Given the description of an element on the screen output the (x, y) to click on. 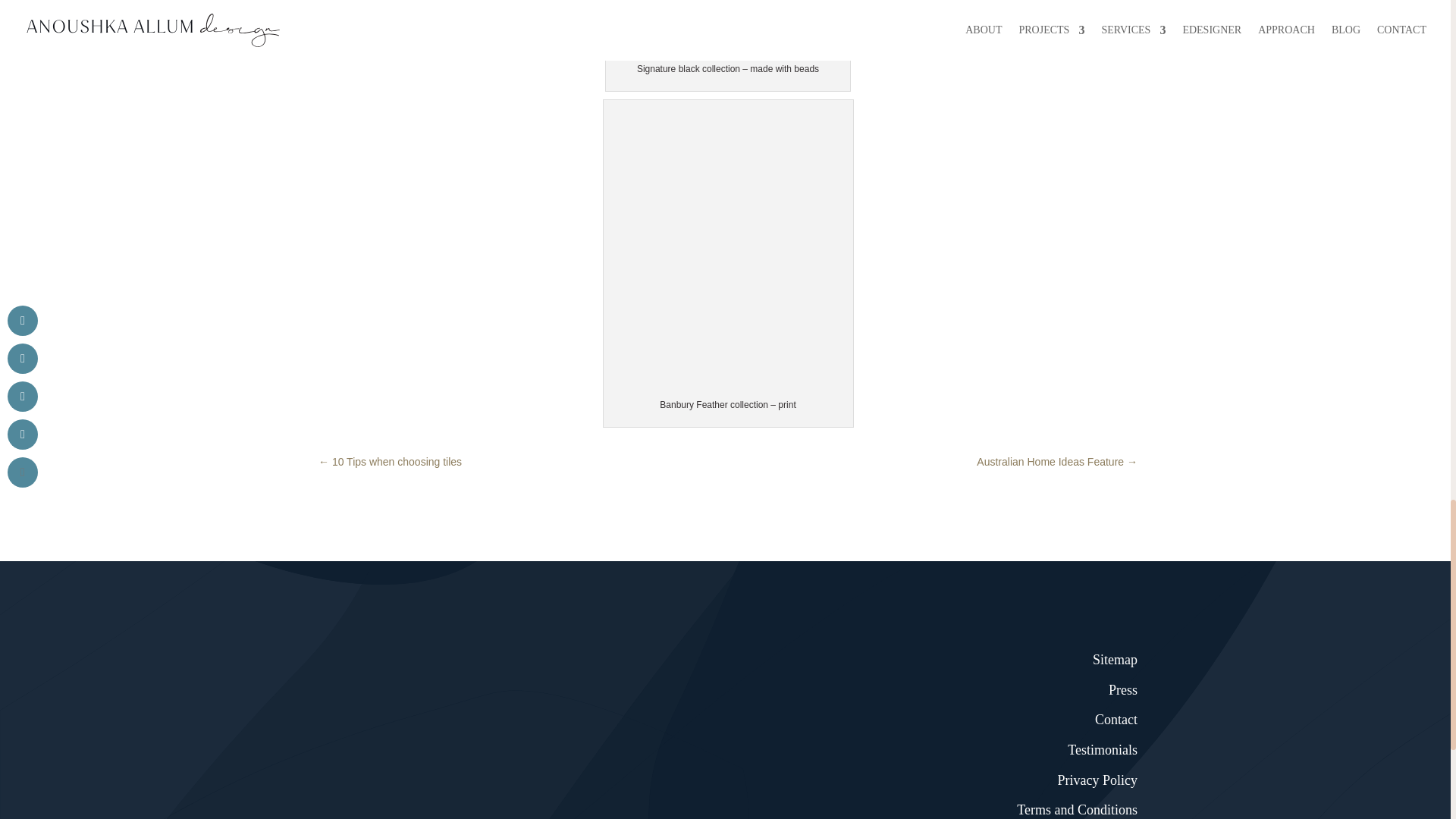
Contact (1115, 719)
Press (1122, 689)
Sitemap (1115, 659)
